Given the description of an element on the screen output the (x, y) to click on. 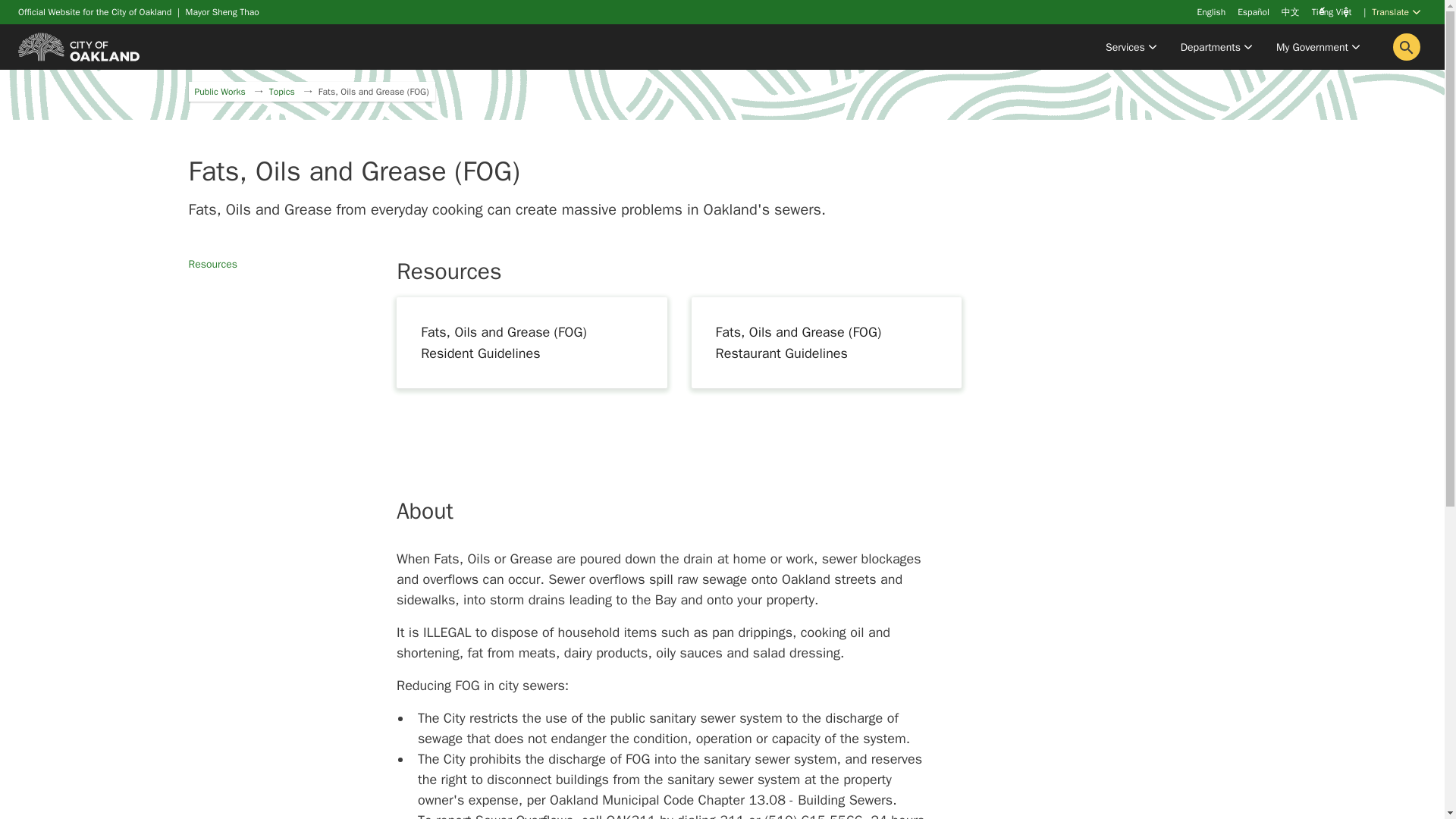
Mayor Sheng Thao (222, 11)
About (825, 510)
Services (1131, 46)
Resources (825, 271)
Translate (1395, 13)
Departments (1216, 46)
Home (78, 46)
English (1210, 11)
